Given the description of an element on the screen output the (x, y) to click on. 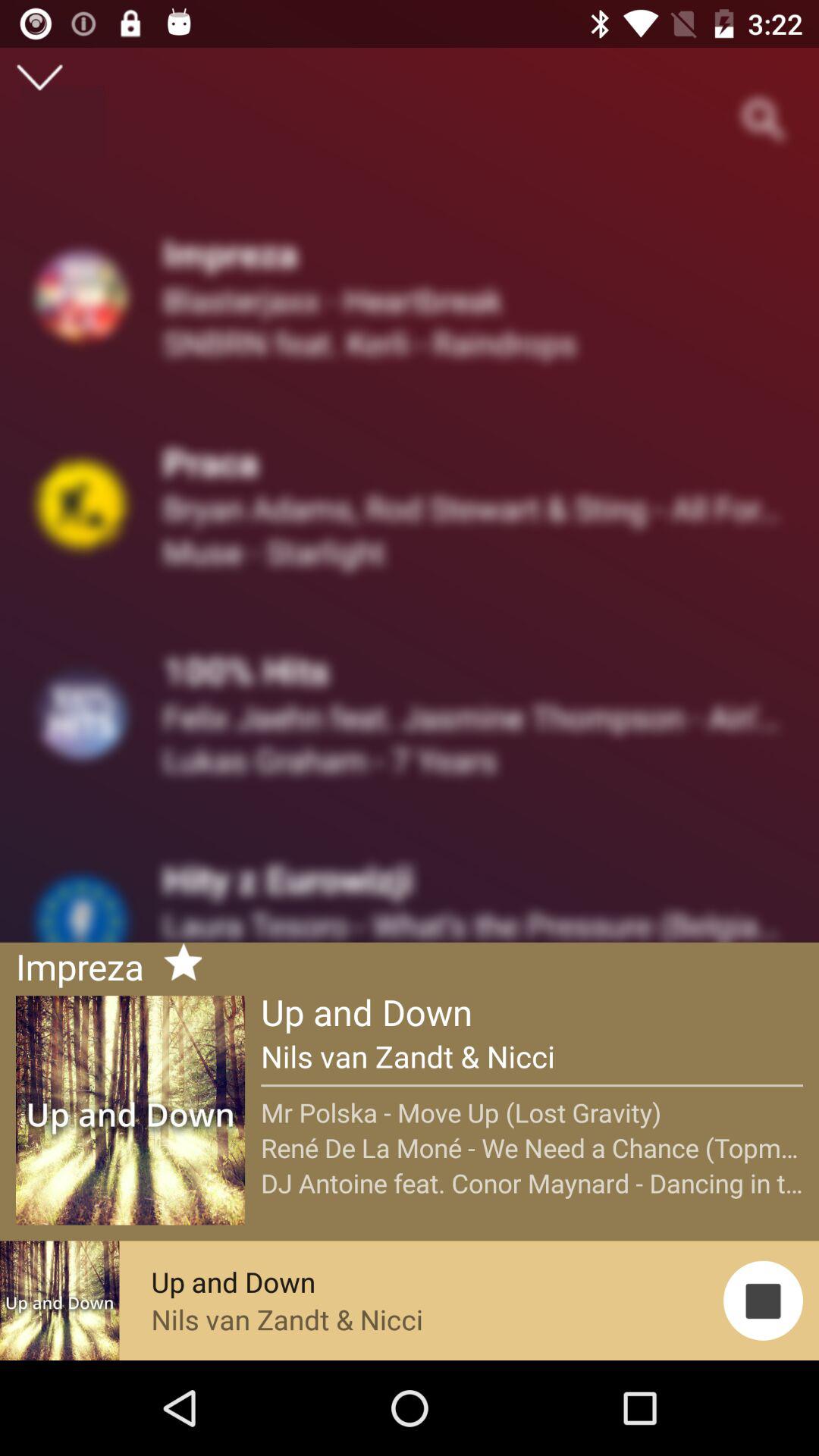
turn on the item above impreza (39, 77)
